Given the description of an element on the screen output the (x, y) to click on. 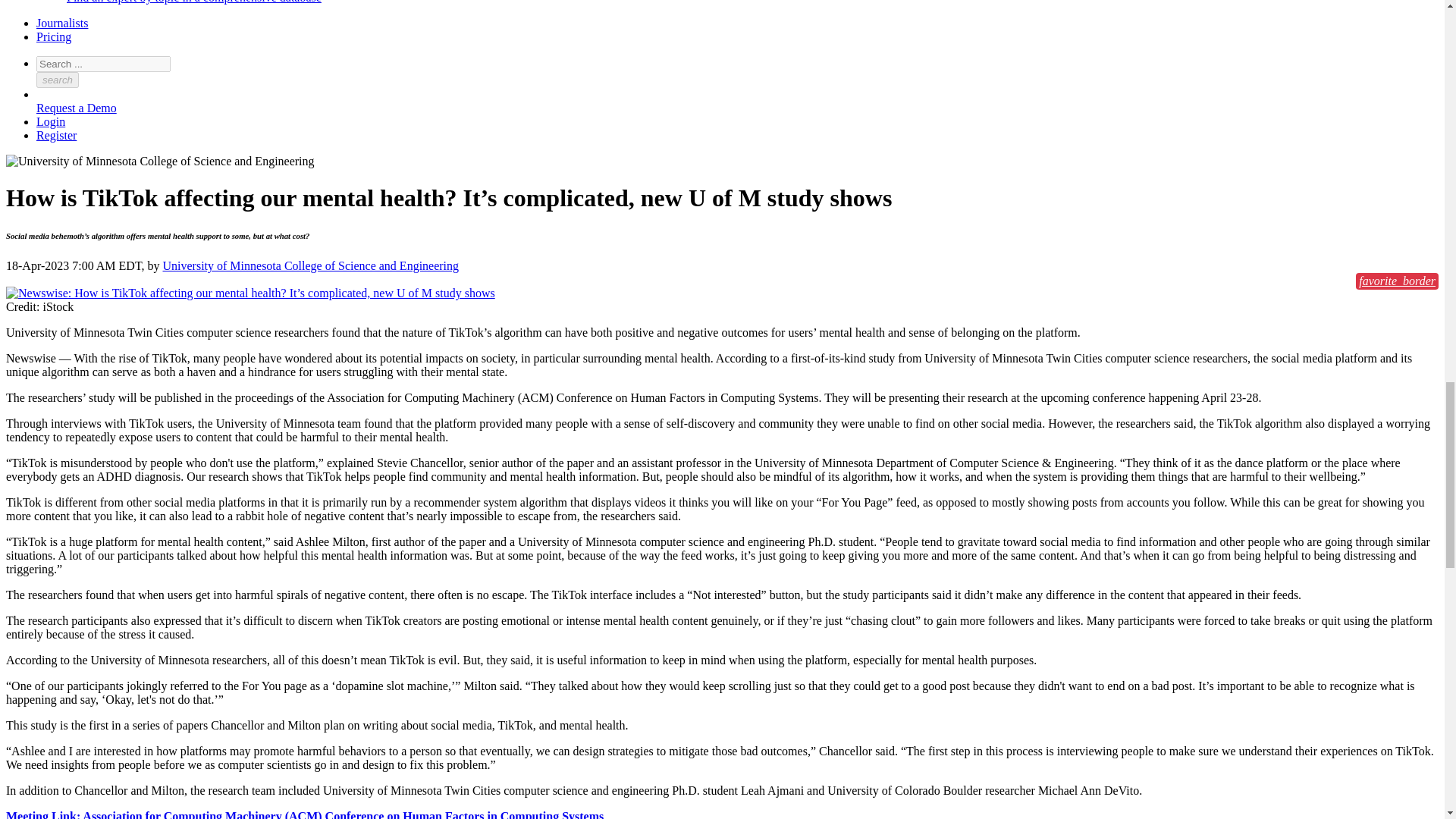
View full image (250, 292)
